Given the description of an element on the screen output the (x, y) to click on. 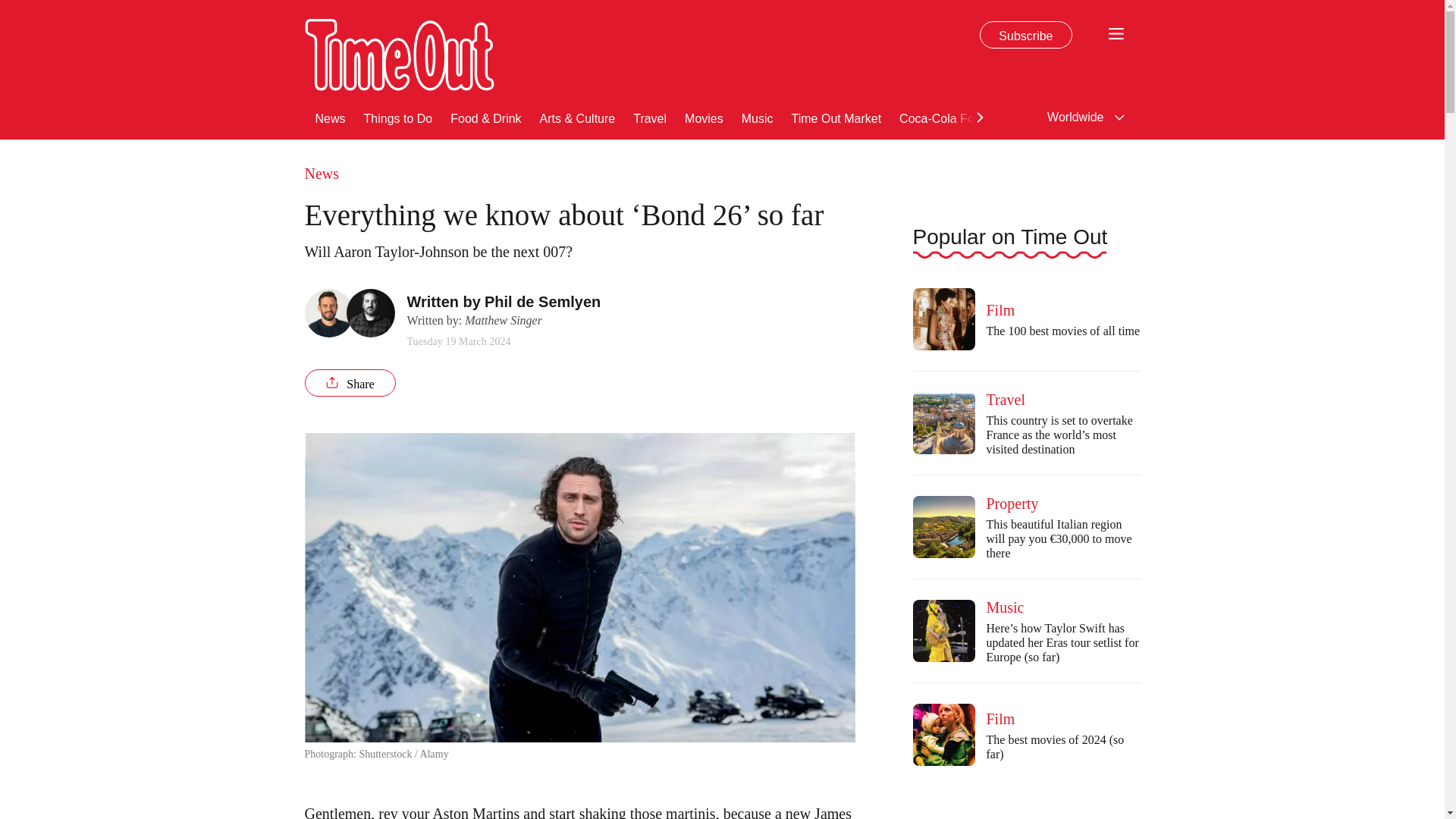
Things to Do (397, 116)
Go to the content (10, 7)
Time Out Market (836, 116)
Movies (703, 116)
Subscribe (1025, 34)
News (330, 116)
The 100 best movies of all time (943, 319)
Coca-Cola Foodmarks (960, 116)
Travel (649, 116)
Music (756, 116)
